Given the description of an element on the screen output the (x, y) to click on. 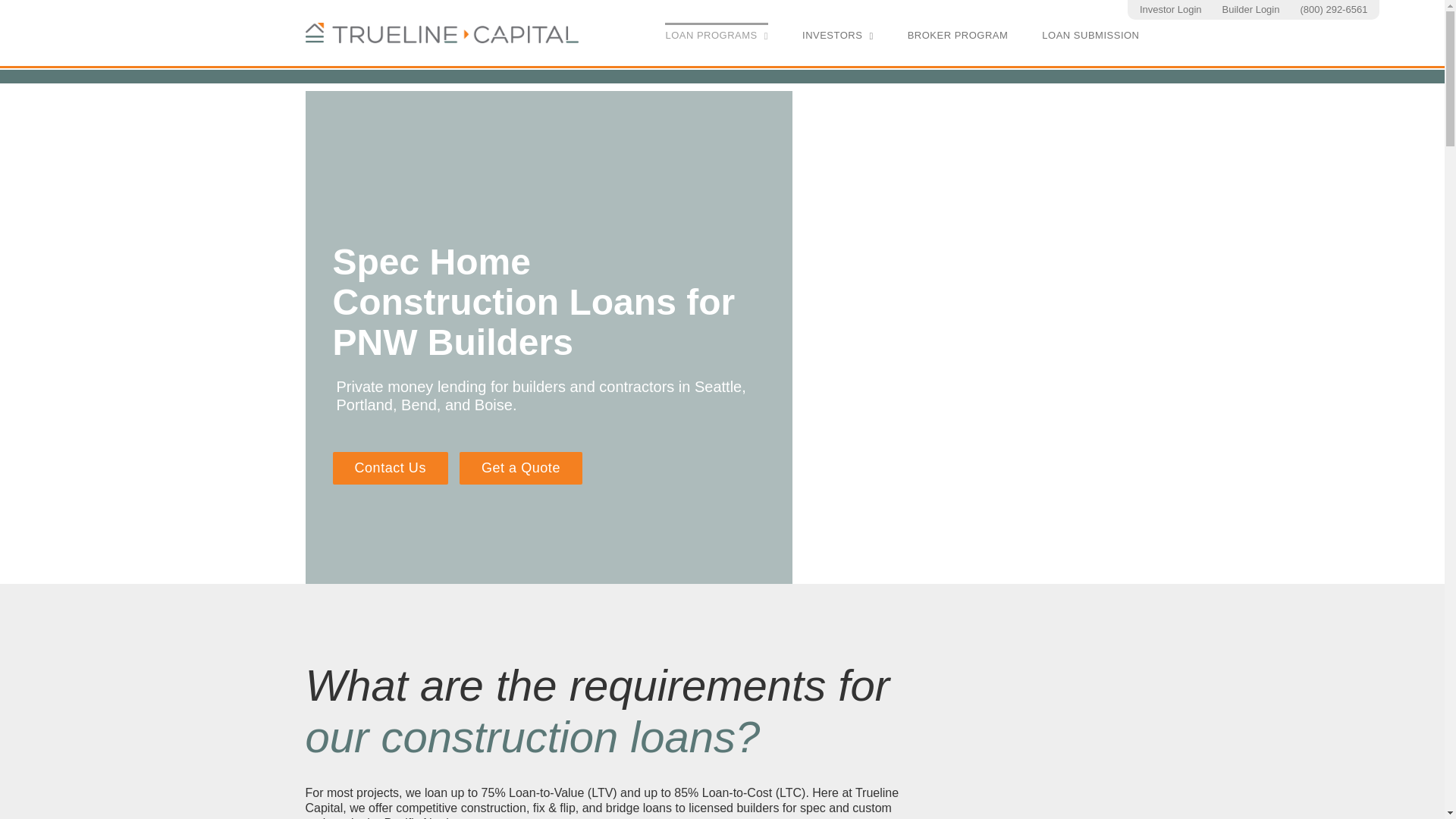
tel (1333, 10)
LOAN SUBMISSION (1090, 33)
Contact Us (388, 468)
INVESTORS (837, 33)
Investor Login (1170, 10)
Get a Quote (521, 468)
BROKER PROGRAM (958, 33)
LOAN PROGRAMS (716, 33)
Builder Login (1251, 10)
